Given the description of an element on the screen output the (x, y) to click on. 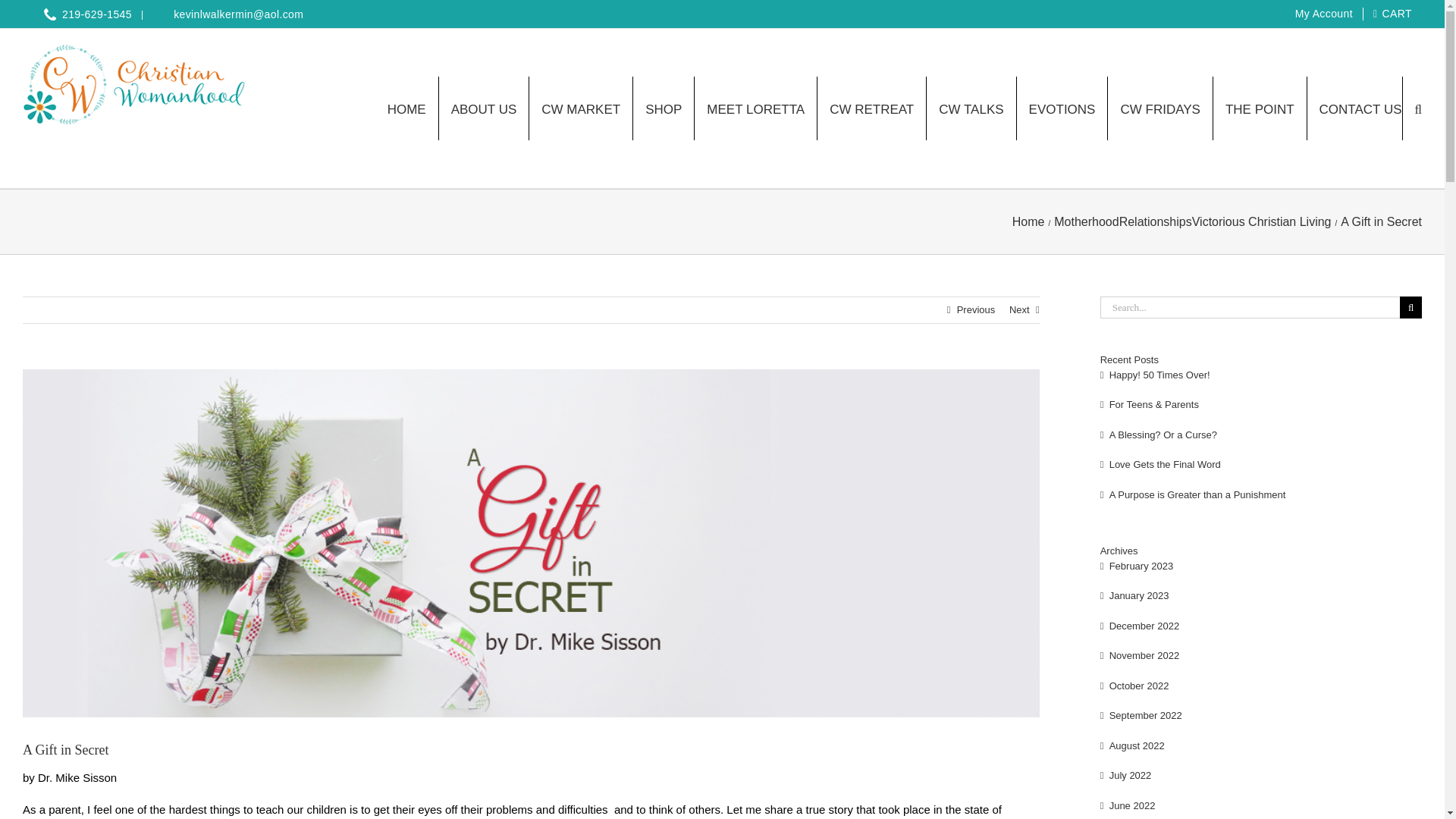
219-629-1545 (77, 13)
CONTACT US (1360, 108)
My Account (1320, 13)
MEET LORETTA (755, 108)
CART (1392, 13)
CW RETREAT (871, 108)
CW TALKS (971, 108)
THE POINT (1259, 108)
CW MARKET (580, 108)
Log In (1350, 142)
